Given the description of an element on the screen output the (x, y) to click on. 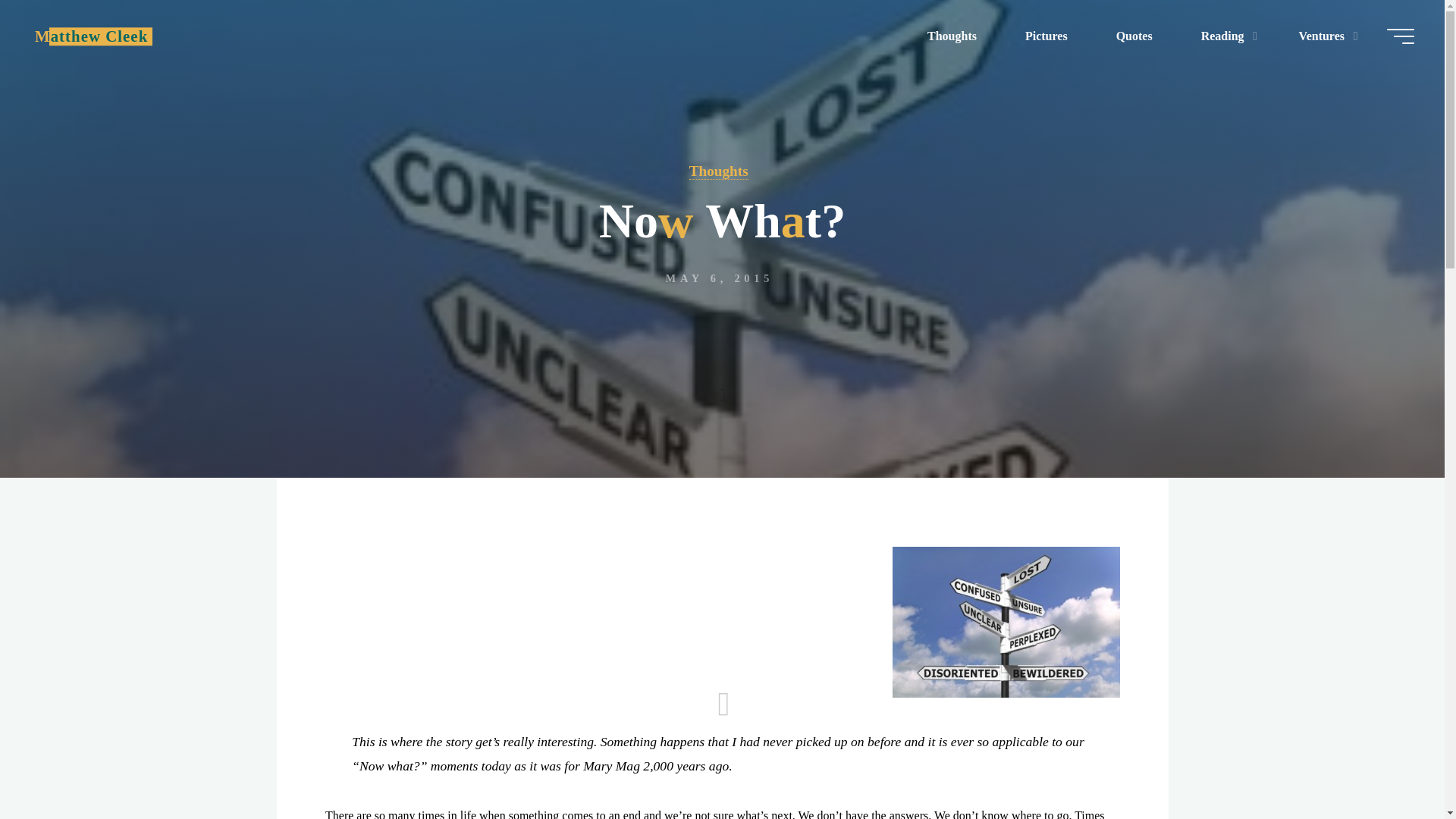
Thoughts (951, 35)
Pictures (1046, 35)
Living Life Well (91, 36)
Quotes (1134, 35)
Reading (1225, 35)
Matthew Cleek (91, 36)
Read more (721, 383)
